Given the description of an element on the screen output the (x, y) to click on. 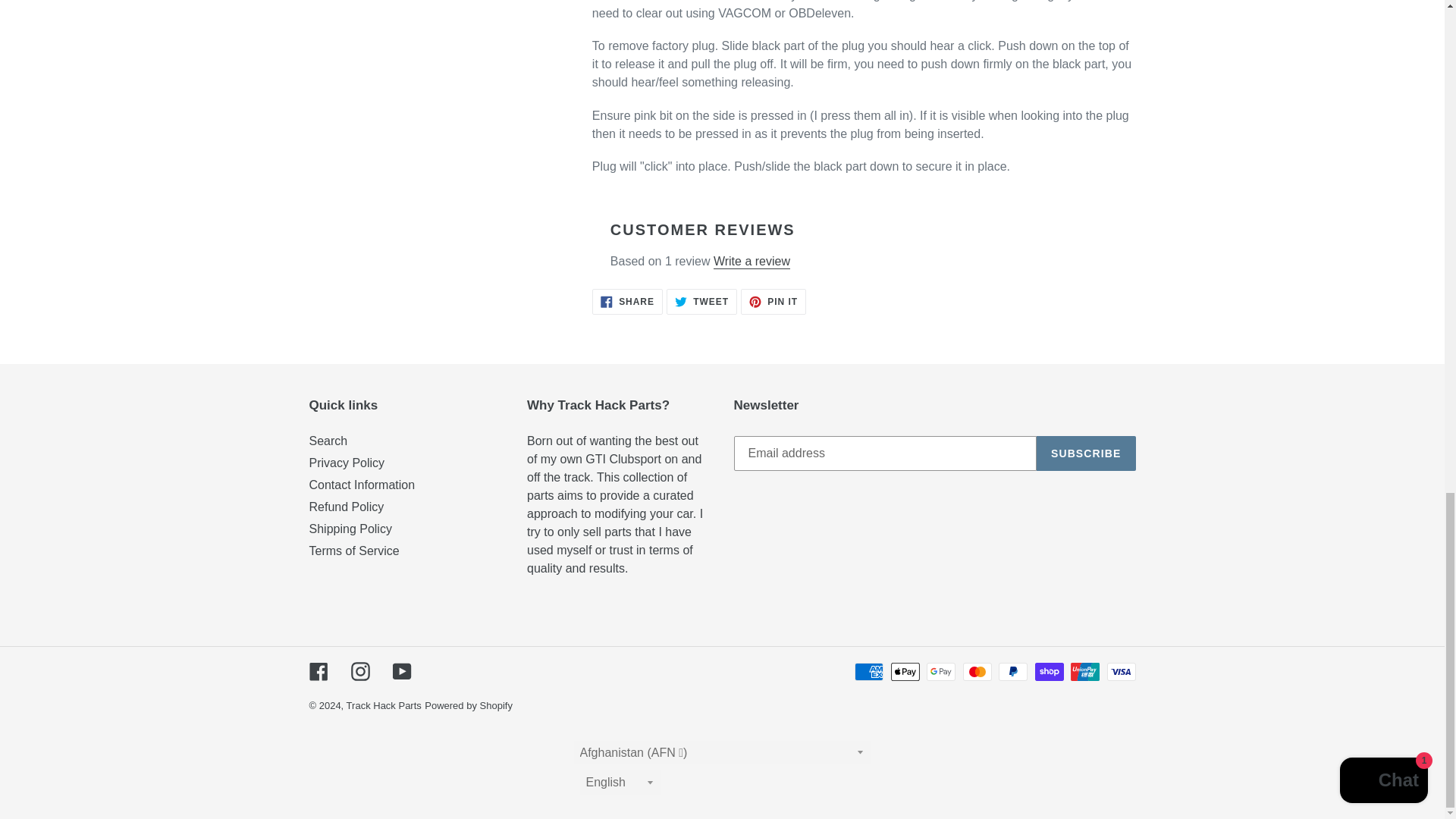
Privacy Policy (773, 301)
Write a review (346, 462)
Search (701, 301)
